Given the description of an element on the screen output the (x, y) to click on. 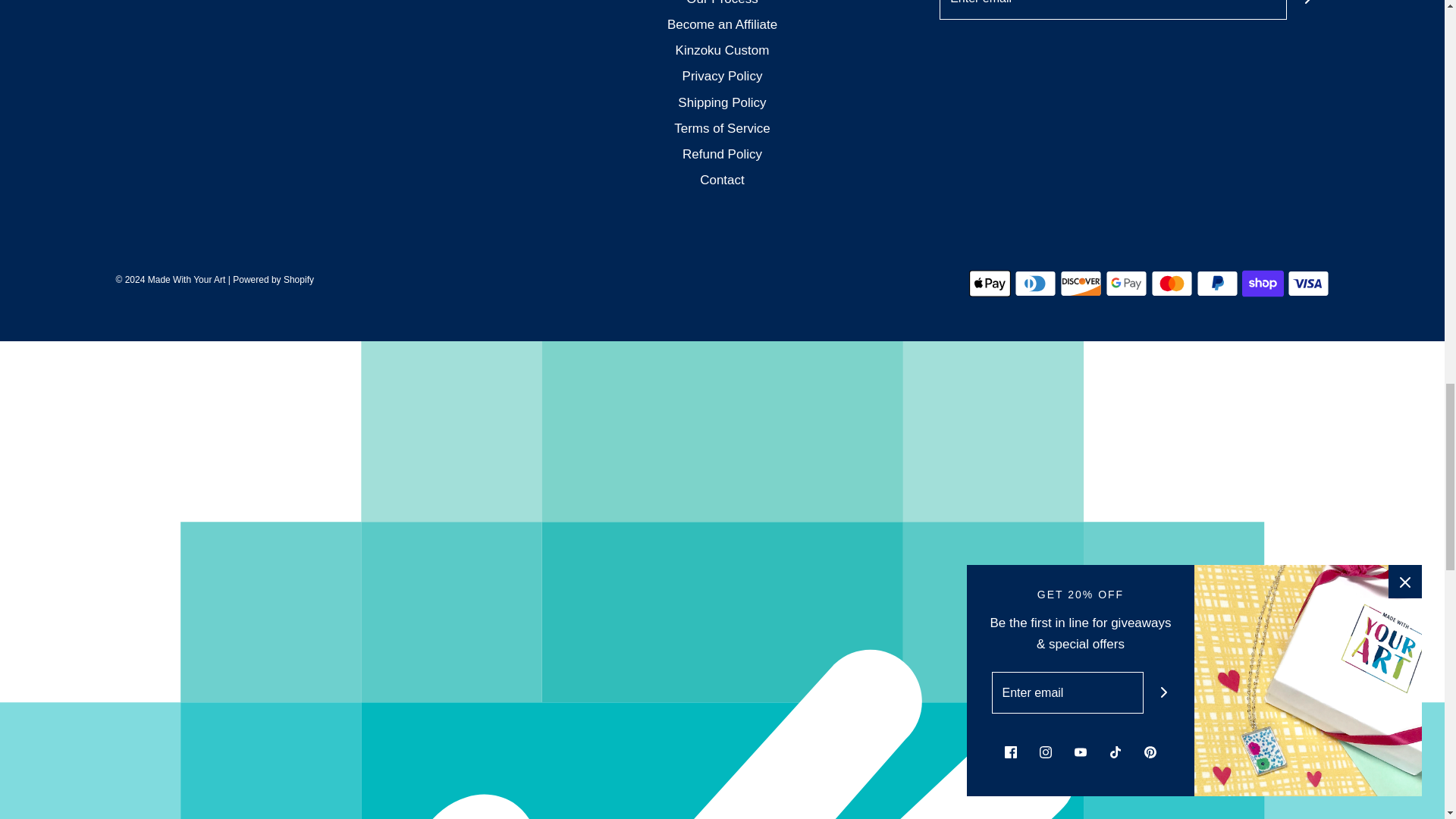
Google Pay (1126, 283)
Discover (1080, 283)
Shop Pay (1262, 283)
Apple Pay (989, 283)
PayPal (1217, 283)
Mastercard (1171, 283)
Diners Club (1035, 283)
